Given the description of an element on the screen output the (x, y) to click on. 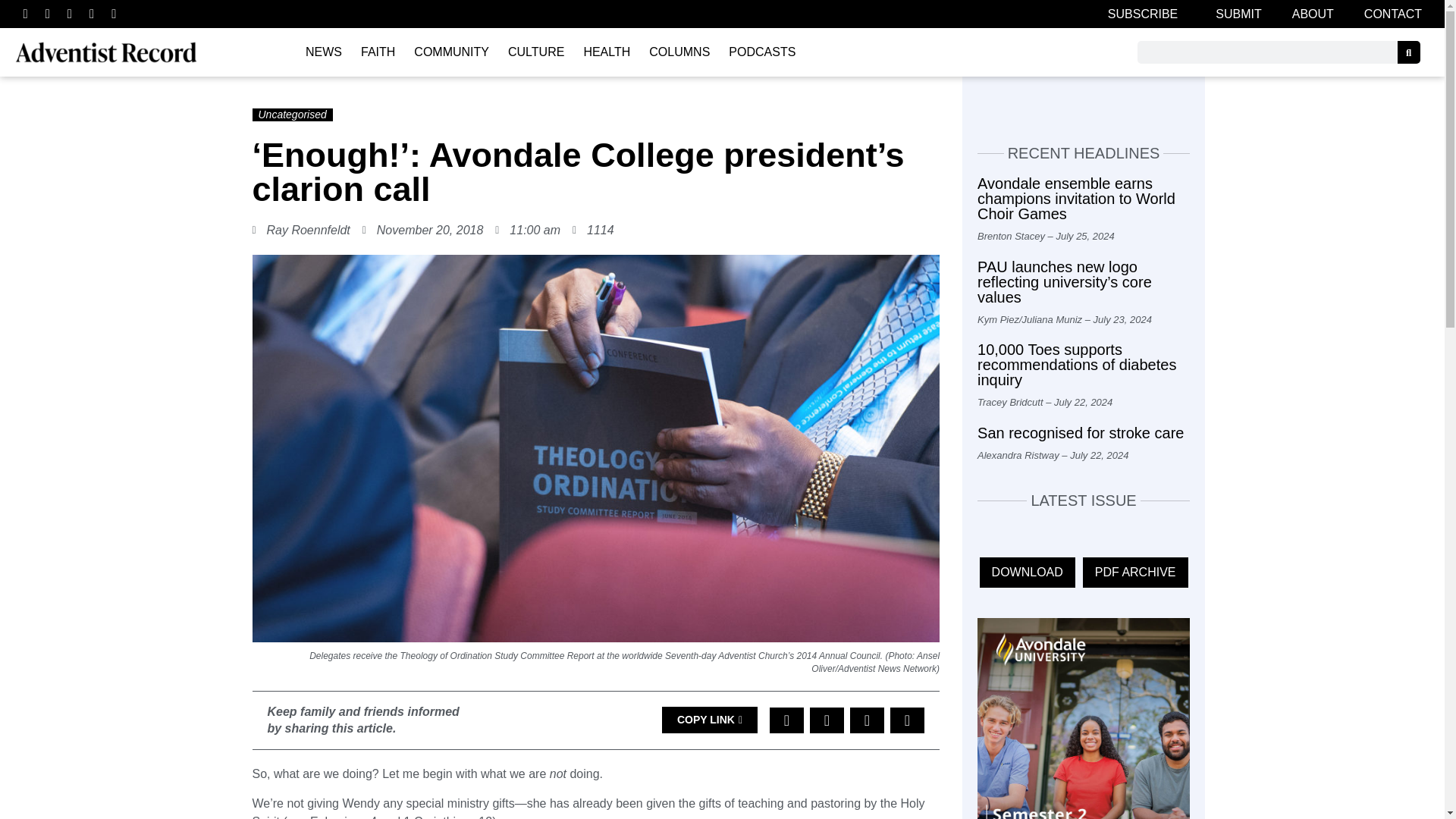
FAITH (378, 52)
HEALTH (606, 52)
Ray Roennfeldt (308, 229)
Posts by Kym Piez (997, 319)
Posts by Tracey Bridcutt (1009, 401)
COLUMNS (679, 52)
Uncategorised (291, 114)
November 20, 2018 (422, 230)
SUBSCRIBE (1146, 14)
PODCASTS (761, 52)
CULTURE (536, 52)
COMMUNITY (451, 52)
Posts by Brenton Stacey (1010, 235)
Posts by Alexandra Ristway (1017, 455)
Posts by Ray Roennfeldt (308, 229)
